Given the description of an element on the screen output the (x, y) to click on. 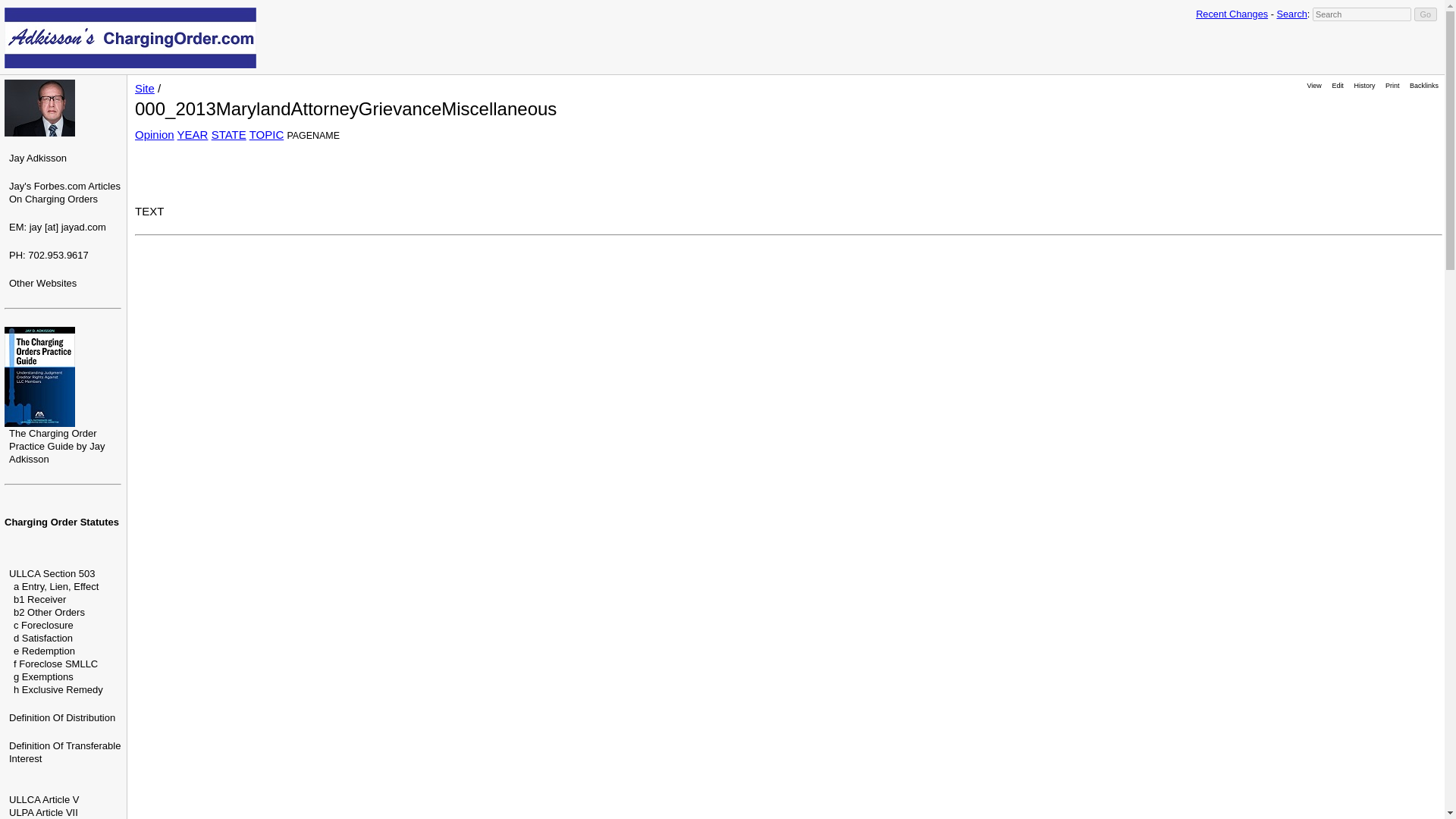
d Satisfaction (42, 637)
b1 Receiver (39, 599)
Recent Changes (1231, 13)
Other Websites (42, 283)
Definition Of Distribution (61, 717)
ULPA Article VII (43, 812)
Go (1425, 14)
Definition Of Transferable Interest (64, 752)
ULLCA Section 503 (51, 573)
g Exemptions (43, 676)
ULLCA Article V (44, 799)
b2 Other Orders (48, 612)
Go (1425, 14)
Go (1425, 14)
c Foreclosure (43, 624)
